Given the description of an element on the screen output the (x, y) to click on. 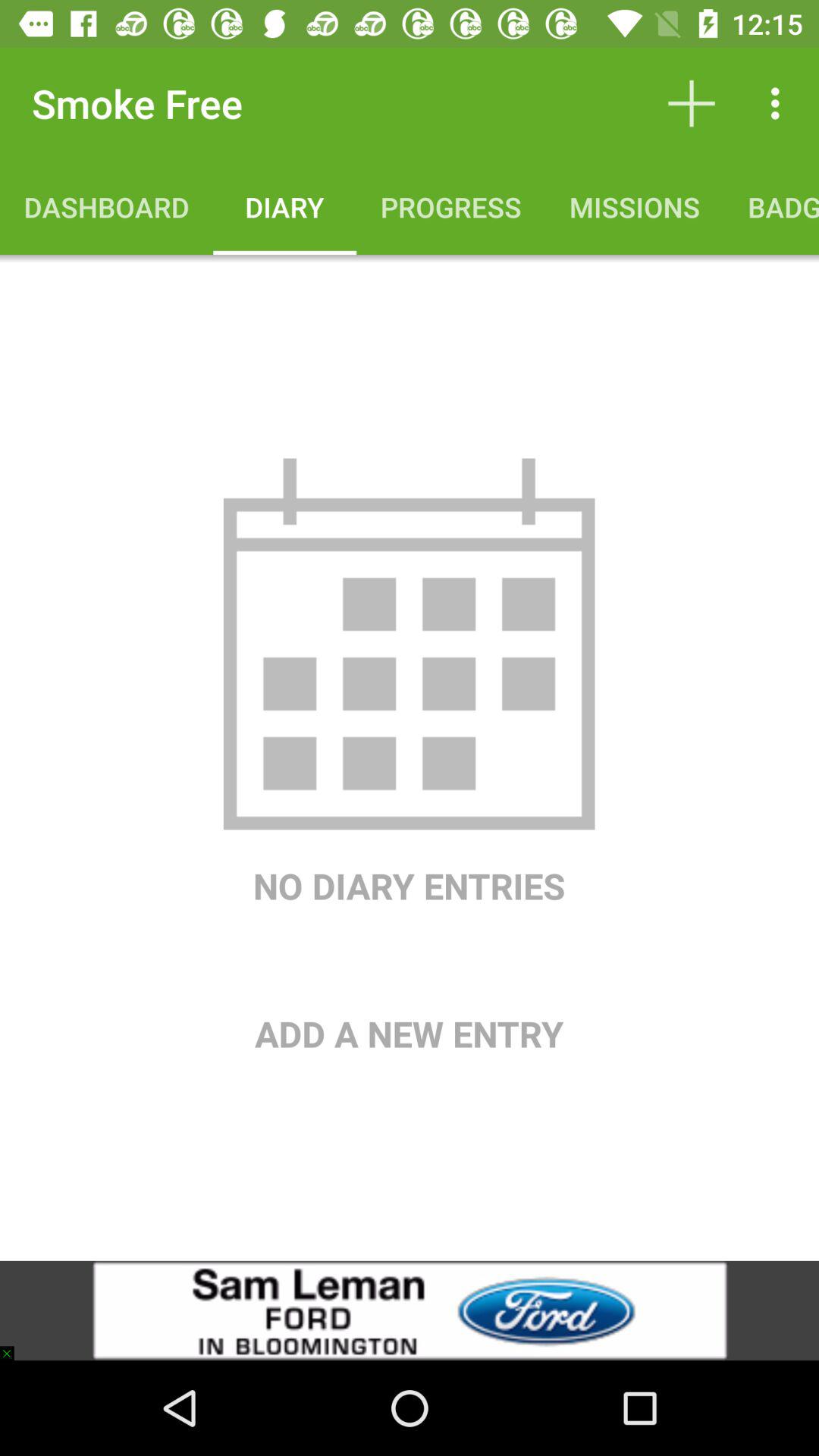
scroll to add a new (408, 983)
